Given the description of an element on the screen output the (x, y) to click on. 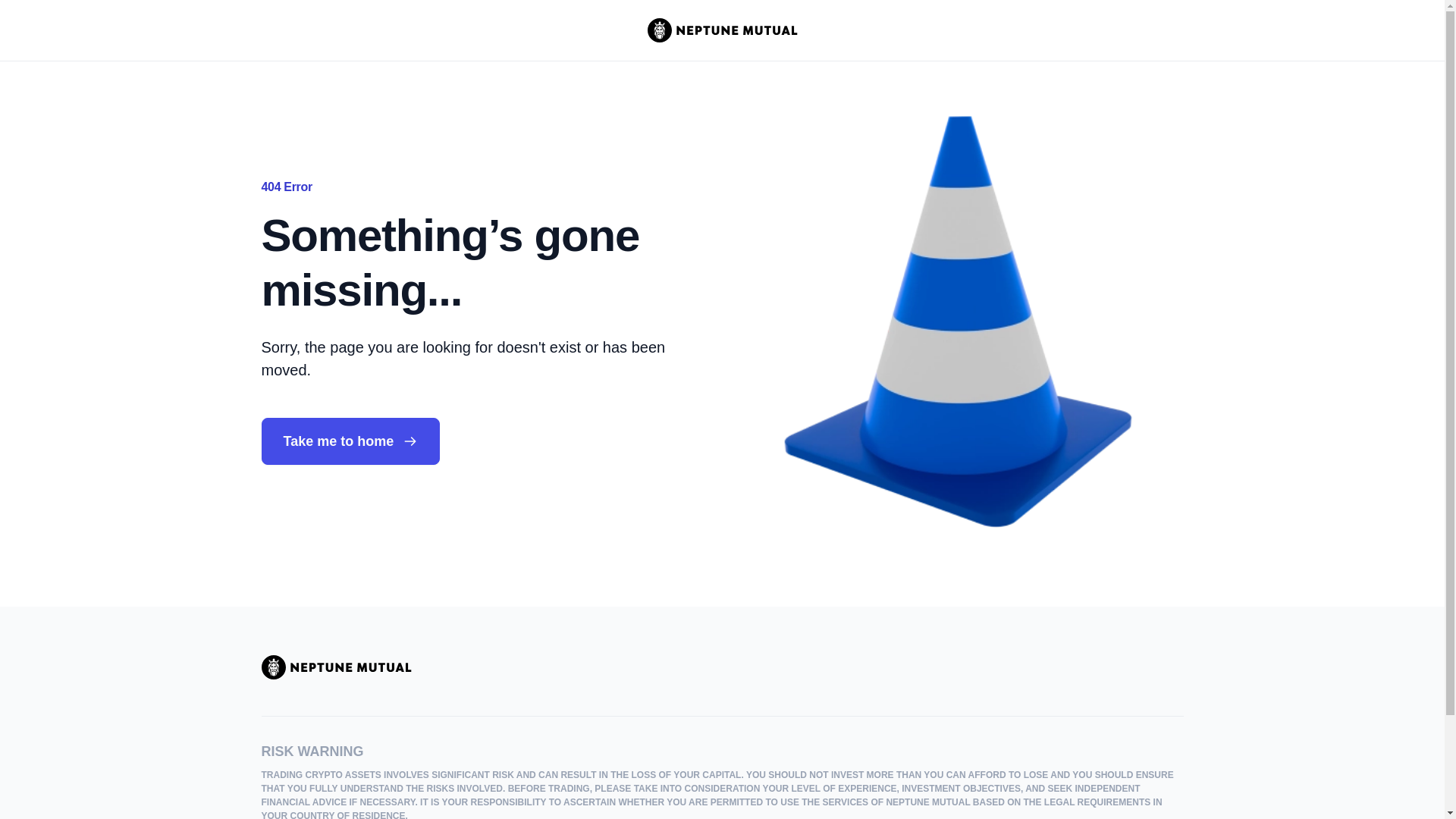
Take me to home (349, 441)
Neptune Mutual (722, 30)
Neptune Mutual (335, 667)
